Given the description of an element on the screen output the (x, y) to click on. 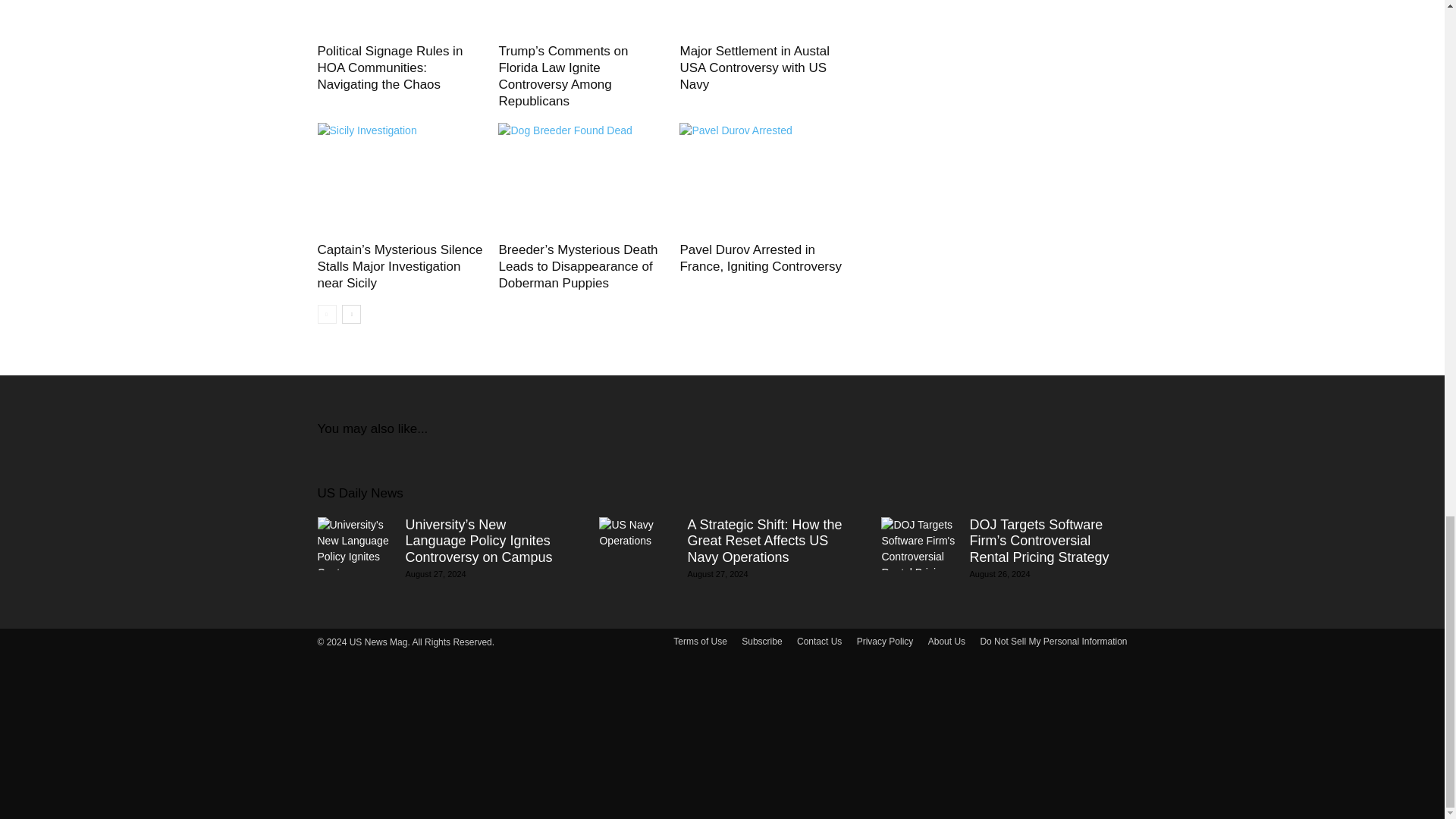
Major Settlement in Austal USA Controversy with US Navy (753, 67)
Major Settlement in Austal USA Controversy with US Navy (761, 18)
Pavel Durov Arrested in France, Igniting Controversy (760, 257)
Major Settlement in Austal USA Controversy with US Navy (753, 67)
